Given the description of an element on the screen output the (x, y) to click on. 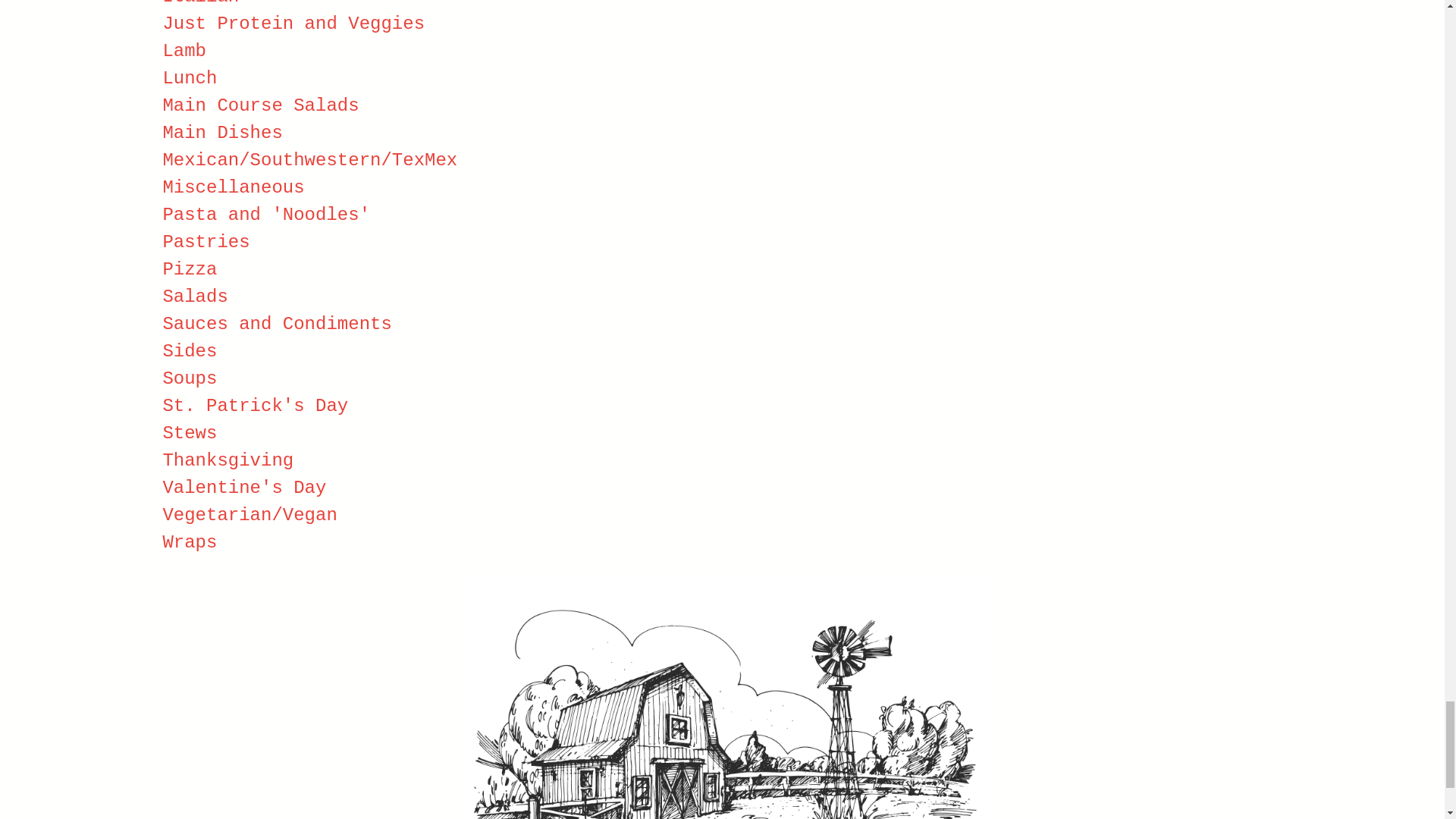
Main Dishes (221, 132)
Pasta and 'Noodles' (265, 214)
Pastries (204, 241)
Lamb (183, 50)
Lunch (188, 77)
Just Protein and Veggies (293, 23)
Main Course Salads (259, 105)
Miscellaneous (232, 187)
Italian (199, 3)
